Given the description of an element on the screen output the (x, y) to click on. 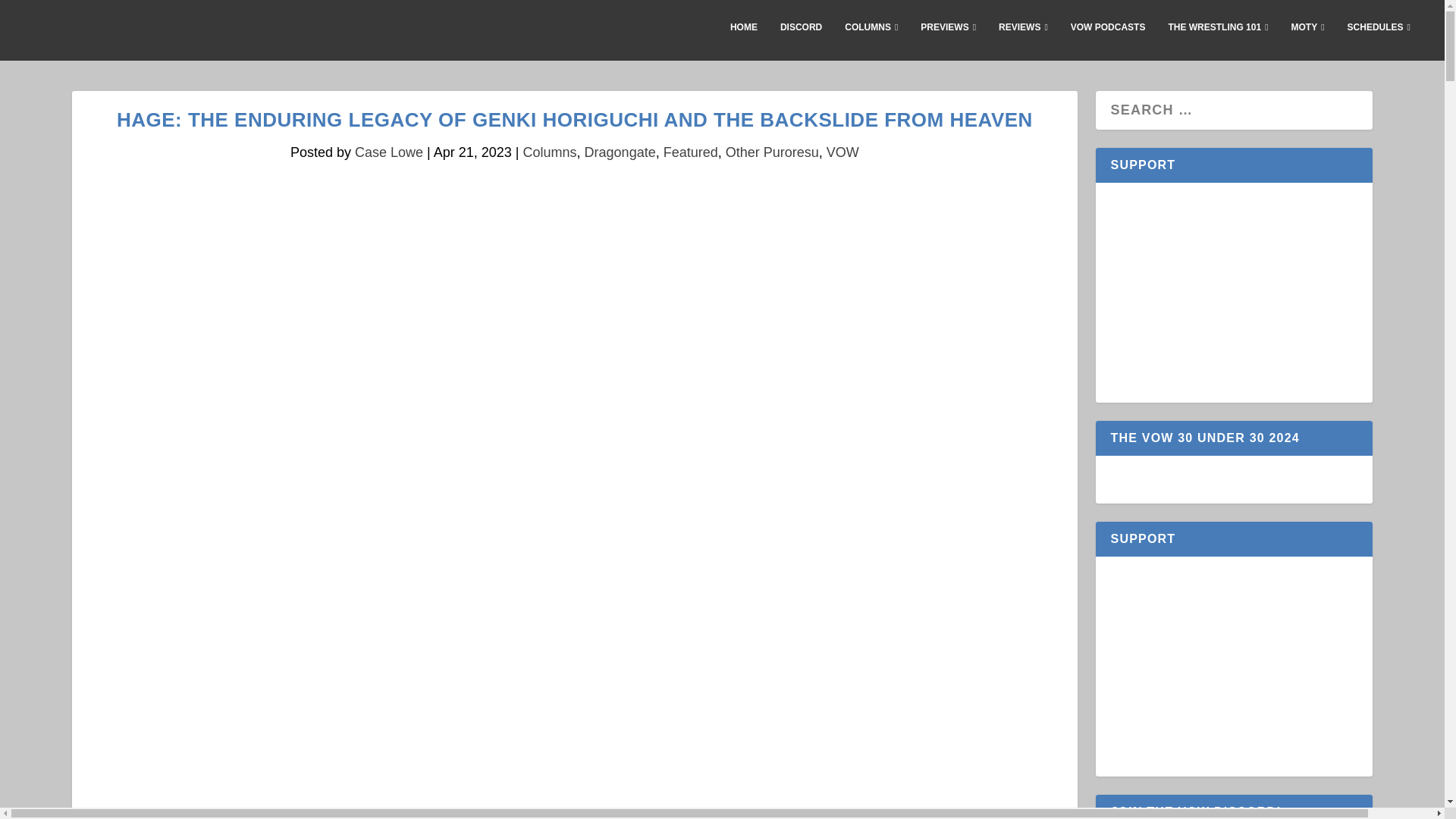
VOW PODCASTS (1107, 39)
COLUMNS (871, 39)
Posts by Case Lowe (389, 151)
THE WRESTLING 101 (1217, 39)
REVIEWS (1023, 39)
DISCORD (801, 39)
PREVIEWS (947, 39)
